Given the description of an element on the screen output the (x, y) to click on. 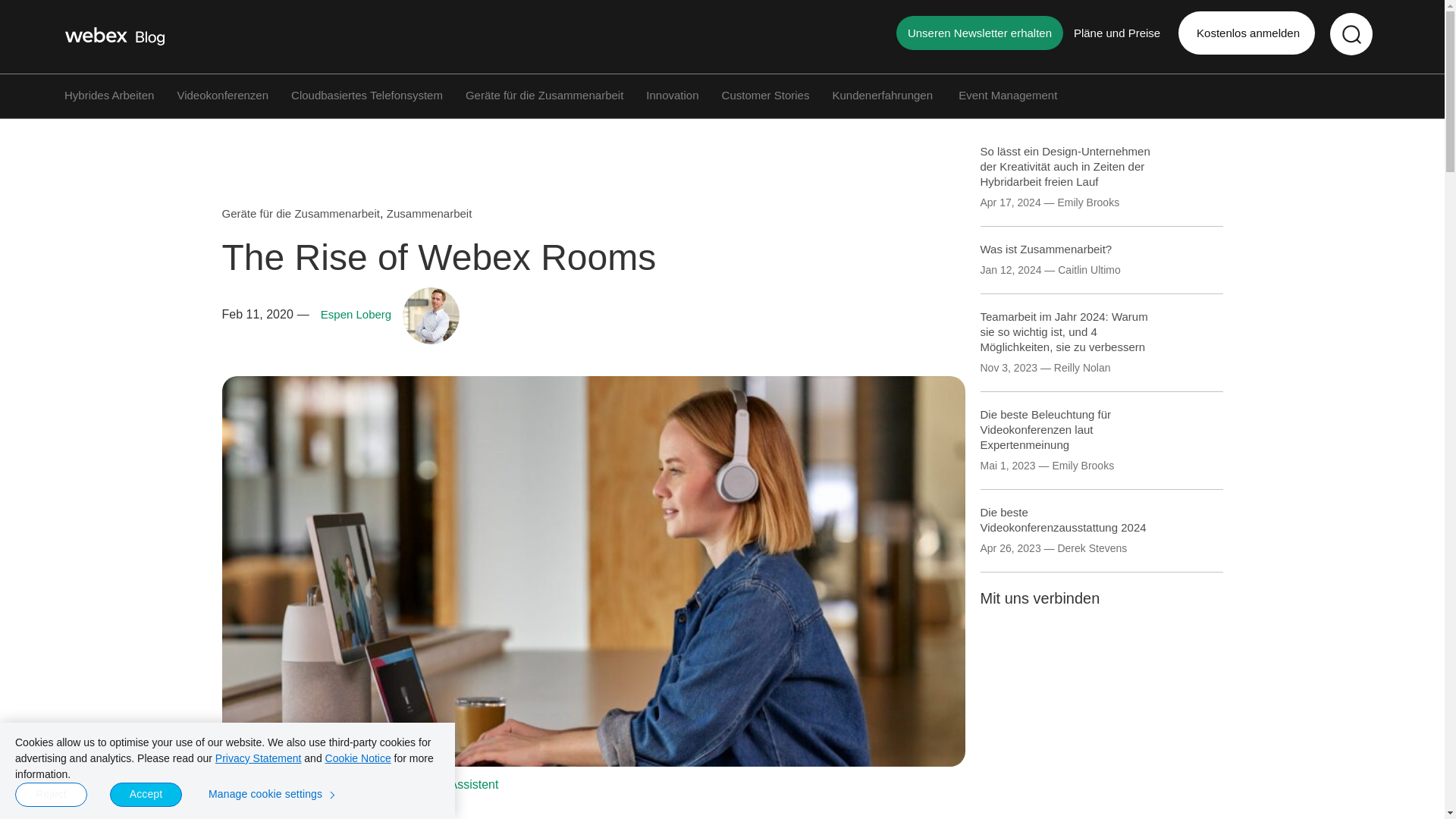
Espen Loberg (355, 314)
Innovation (672, 94)
Kundenerfahrungen  (883, 94)
Unseren Newsletter erhalten (979, 32)
Webex-Assistent (453, 784)
Kostenlos anmelden (1245, 32)
Cloudbasiertes Telefonsystem (366, 94)
Customer Stories (765, 94)
Zusammenarbeit (429, 213)
Videokonferenzen (221, 94)
Hybrides Arbeiten (109, 94)
Webex Meetings (356, 784)
Event Management (1007, 94)
RoomOS (278, 784)
